Given the description of an element on the screen output the (x, y) to click on. 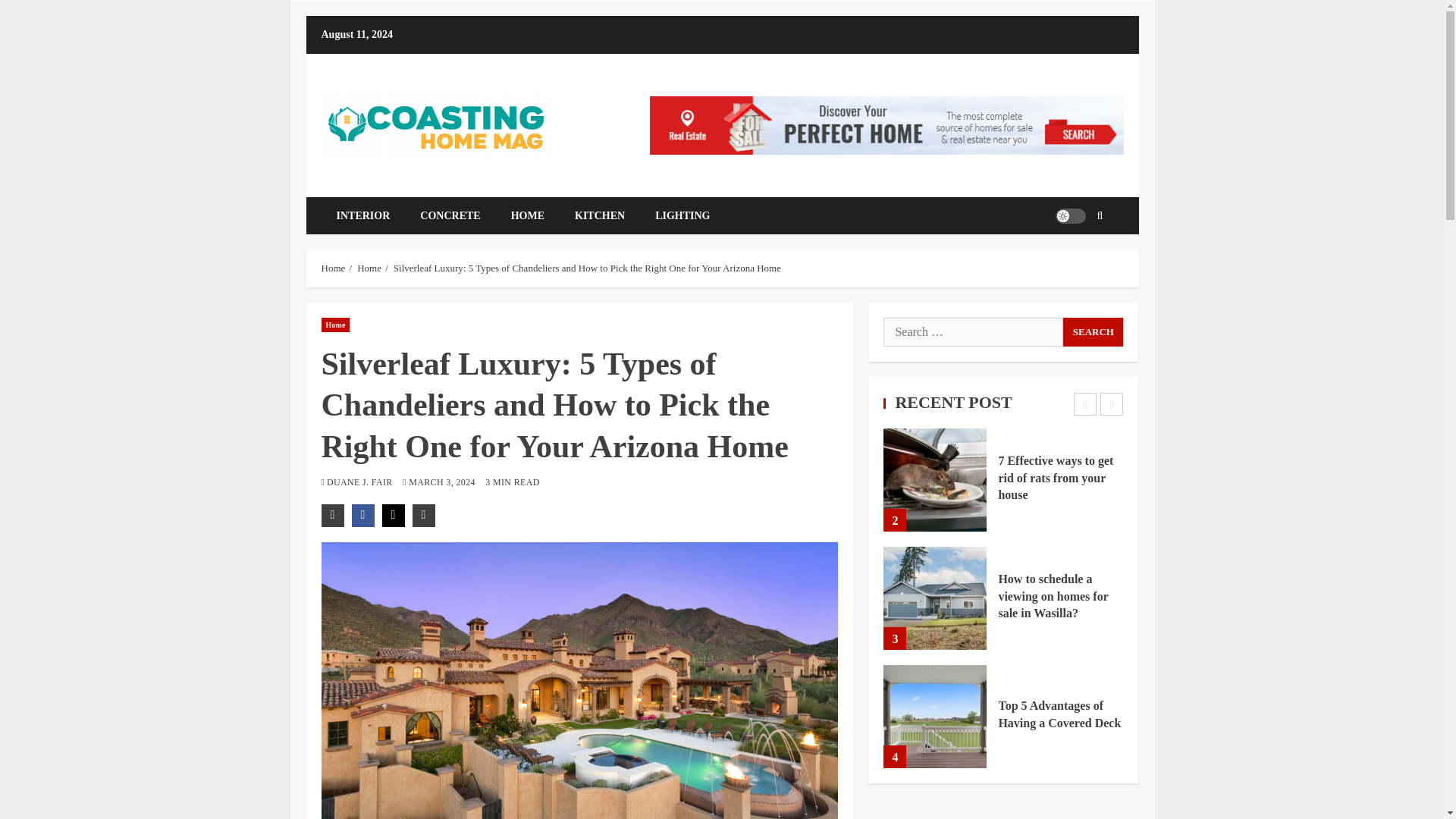
LIGHTING (682, 215)
Search (1092, 331)
Home (333, 267)
HOME (527, 215)
INTERIOR (363, 215)
DUANE J. FAIR (360, 481)
CONCRETE (449, 215)
Search (1076, 261)
Search (1092, 331)
